Given the description of an element on the screen output the (x, y) to click on. 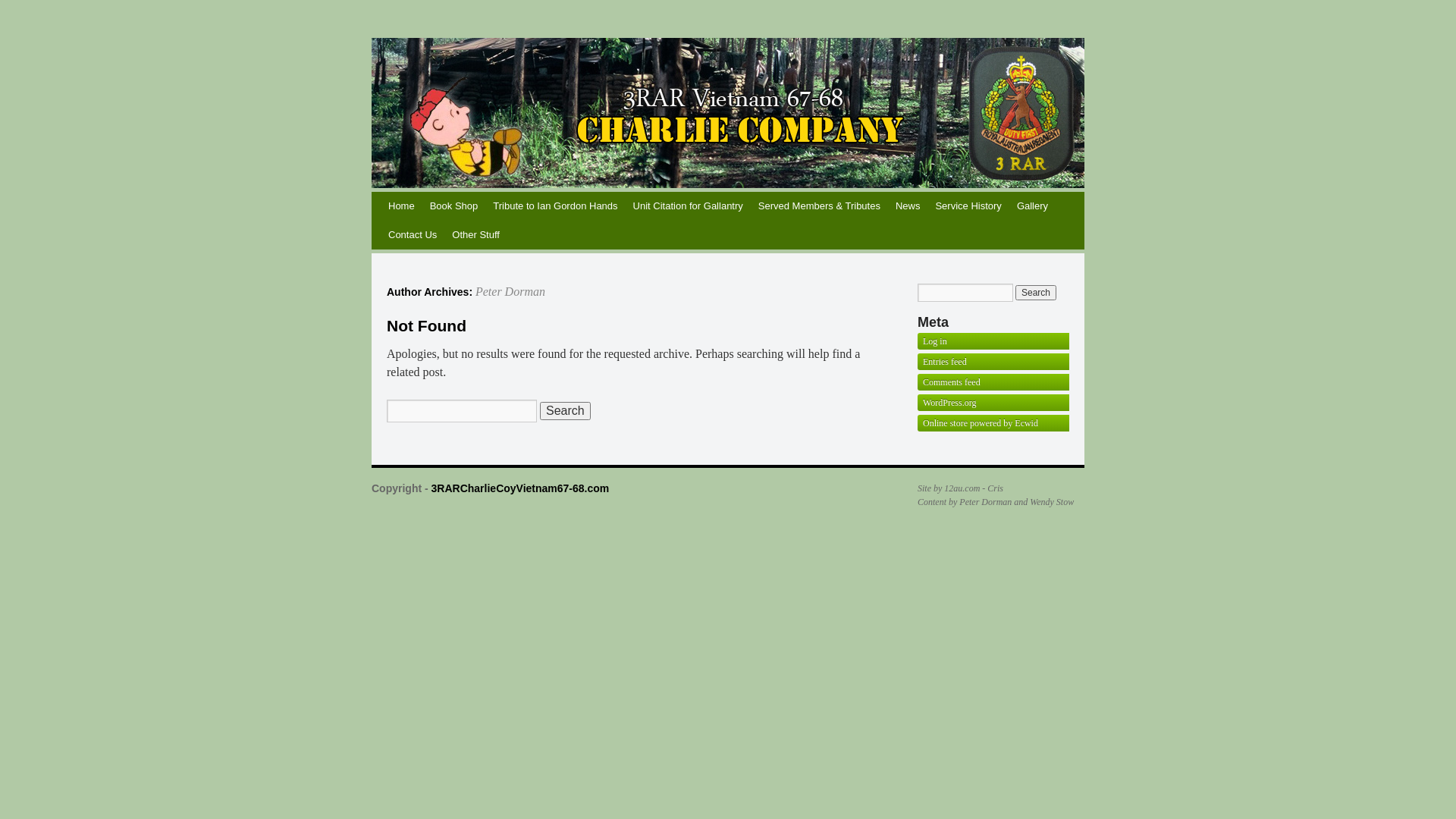
News Element type: text (908, 205)
by Peter Dorman and Wendy Stow Element type: text (1010, 501)
Content Element type: text (931, 501)
WordPress.org Element type: text (948, 402)
Search Element type: text (1035, 292)
Served Members & Tributes Element type: text (819, 205)
Site by 12au.com - Cris Element type: text (960, 488)
Log in Element type: text (934, 340)
Search Element type: text (564, 410)
Peter Dorman Element type: text (510, 291)
Comments feed Element type: text (951, 381)
Contact Us Element type: text (412, 234)
Entries feed Element type: text (944, 361)
3RARCharlieCoyVietnam67-68.com Element type: text (520, 488)
Unit Citation for Gallantry Element type: text (687, 205)
Online store powered by Ecwid Element type: text (980, 422)
Tribute to Ian Gordon Hands Element type: text (554, 205)
Gallery Element type: text (1032, 205)
Home Element type: text (401, 205)
Service History Element type: text (967, 205)
Other Stuff Element type: text (475, 234)
Book Shop Element type: text (454, 205)
